Given the description of an element on the screen output the (x, y) to click on. 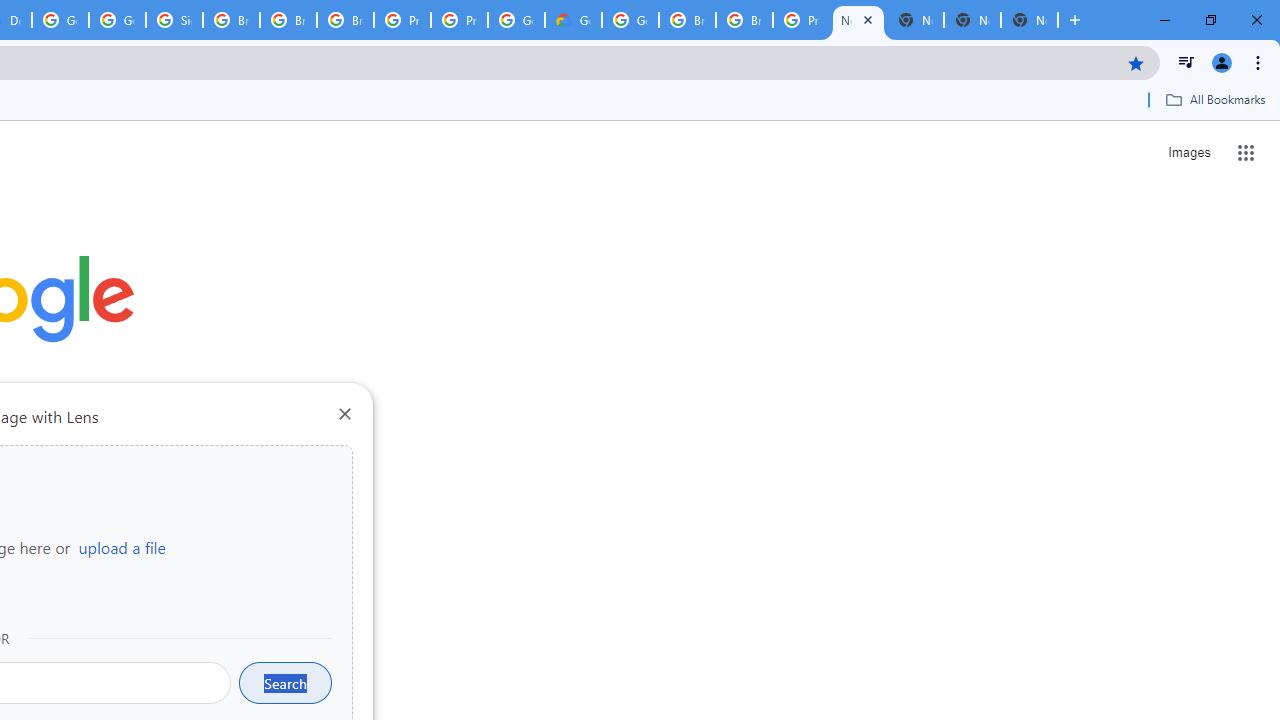
Browse Chrome as a guest - Computer - Google Chrome Help (288, 20)
Google Cloud Platform (630, 20)
upload a file (122, 547)
Sign in - Google Accounts (174, 20)
